Given the description of an element on the screen output the (x, y) to click on. 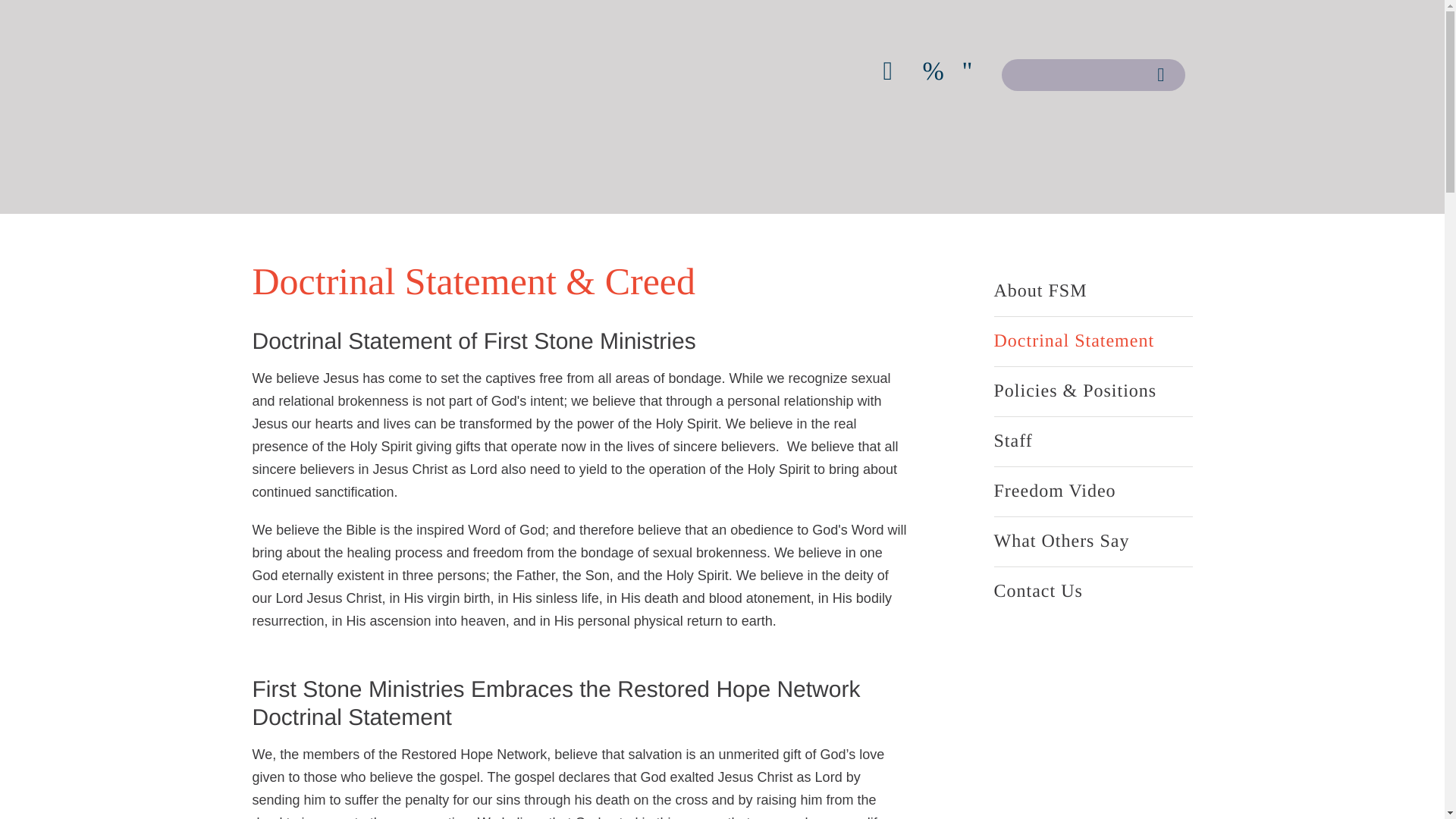
Logo (317, 73)
